Given the description of an element on the screen output the (x, y) to click on. 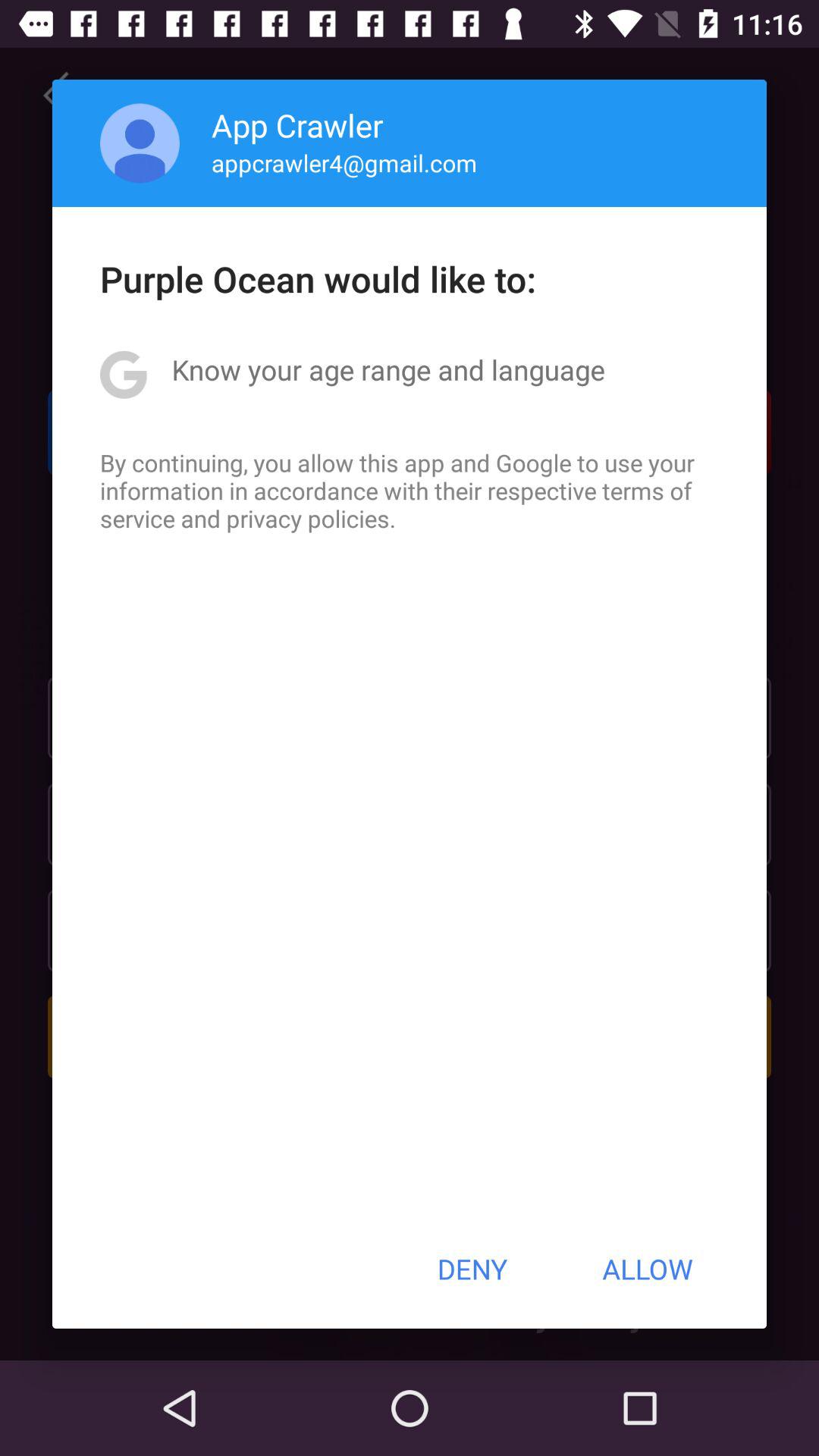
press the item at the bottom (471, 1268)
